Given the description of an element on the screen output the (x, y) to click on. 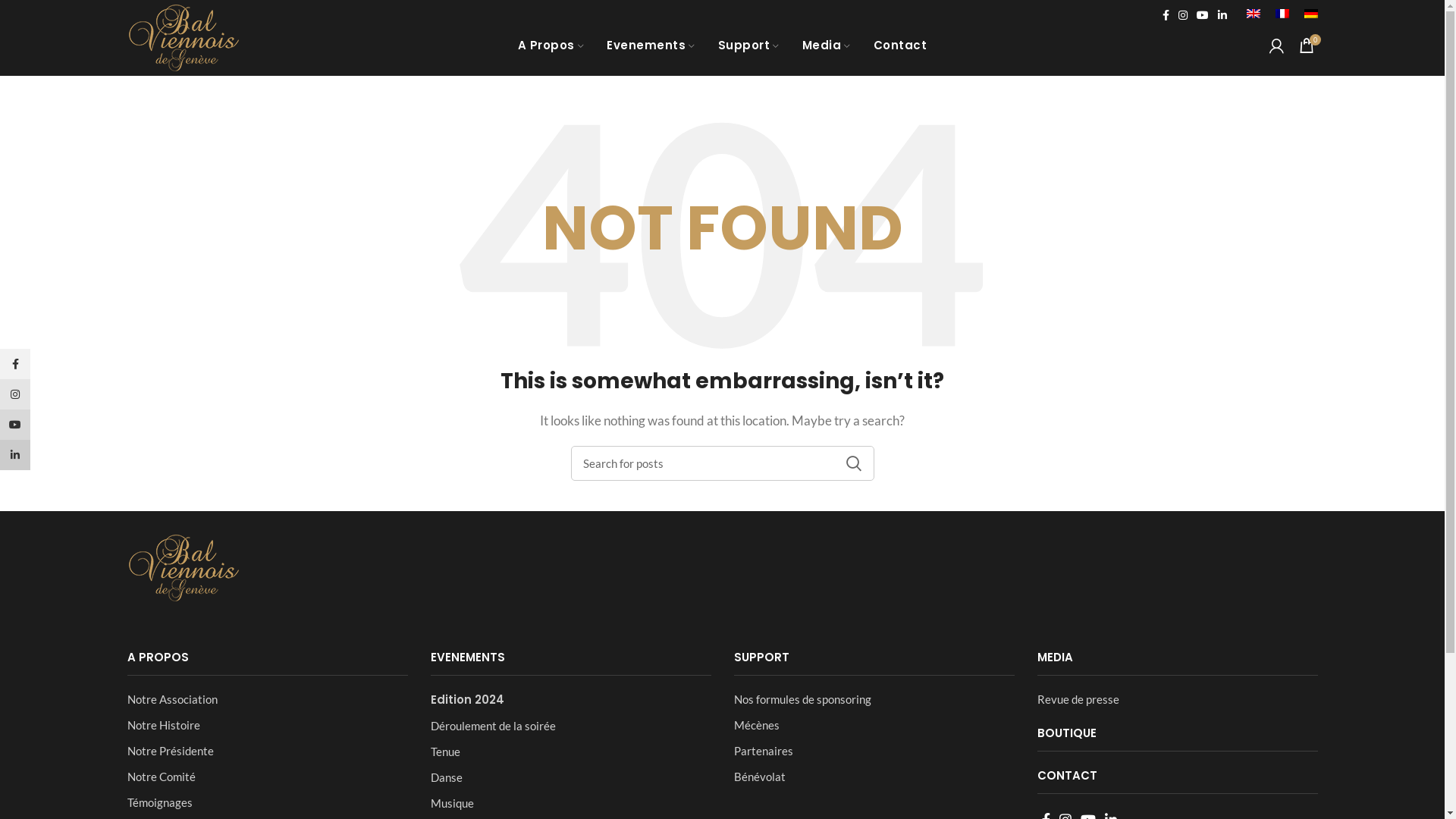
SEARCH Element type: text (853, 462)
A Propos Element type: text (551, 45)
Media Element type: text (826, 45)
0 Element type: text (1305, 45)
Nos formules de sponsoring Element type: hover (874, 699)
Evenements Element type: text (650, 45)
My account Element type: hover (1276, 45)
Support Element type: text (748, 45)
Revue de presse Element type: hover (1177, 699)
Contact Element type: text (900, 45)
CONTACT Element type: text (1067, 775)
BOUTIQUE Element type: text (1066, 732)
Search for posts Element type: hover (721, 462)
